Given the description of an element on the screen output the (x, y) to click on. 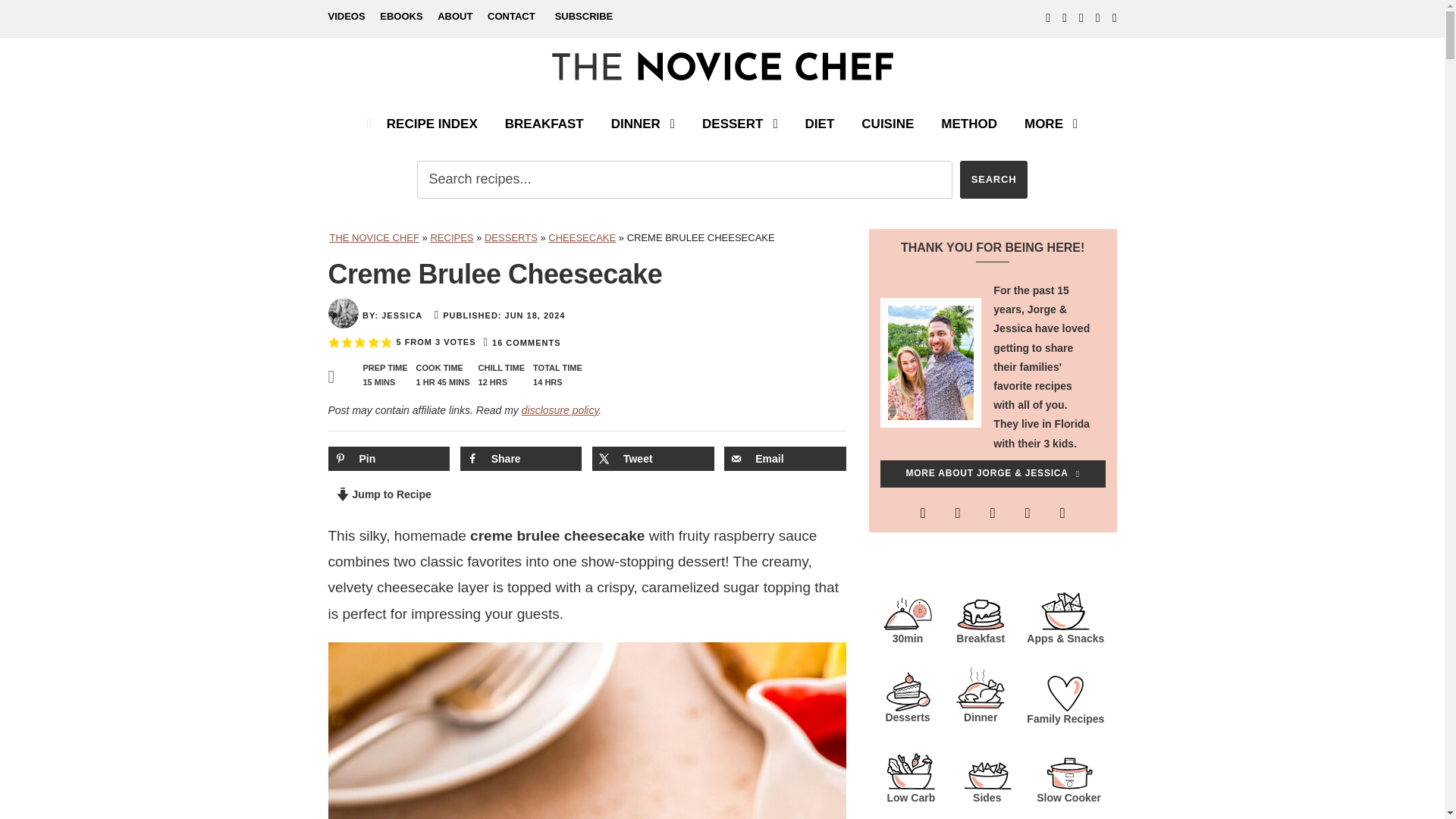
Search (993, 179)
METHOD (968, 131)
Share on X (653, 458)
SUBSCRIBE (583, 16)
Save to Pinterest (388, 458)
VIDEOS (346, 19)
Share on Facebook (521, 458)
ABOUT (454, 19)
Search (993, 179)
DINNER (643, 131)
MORE (1051, 131)
BREAKFAST (544, 131)
RECIPE INDEX (421, 131)
Send over email (784, 458)
CUISINE (887, 131)
